Given the description of an element on the screen output the (x, y) to click on. 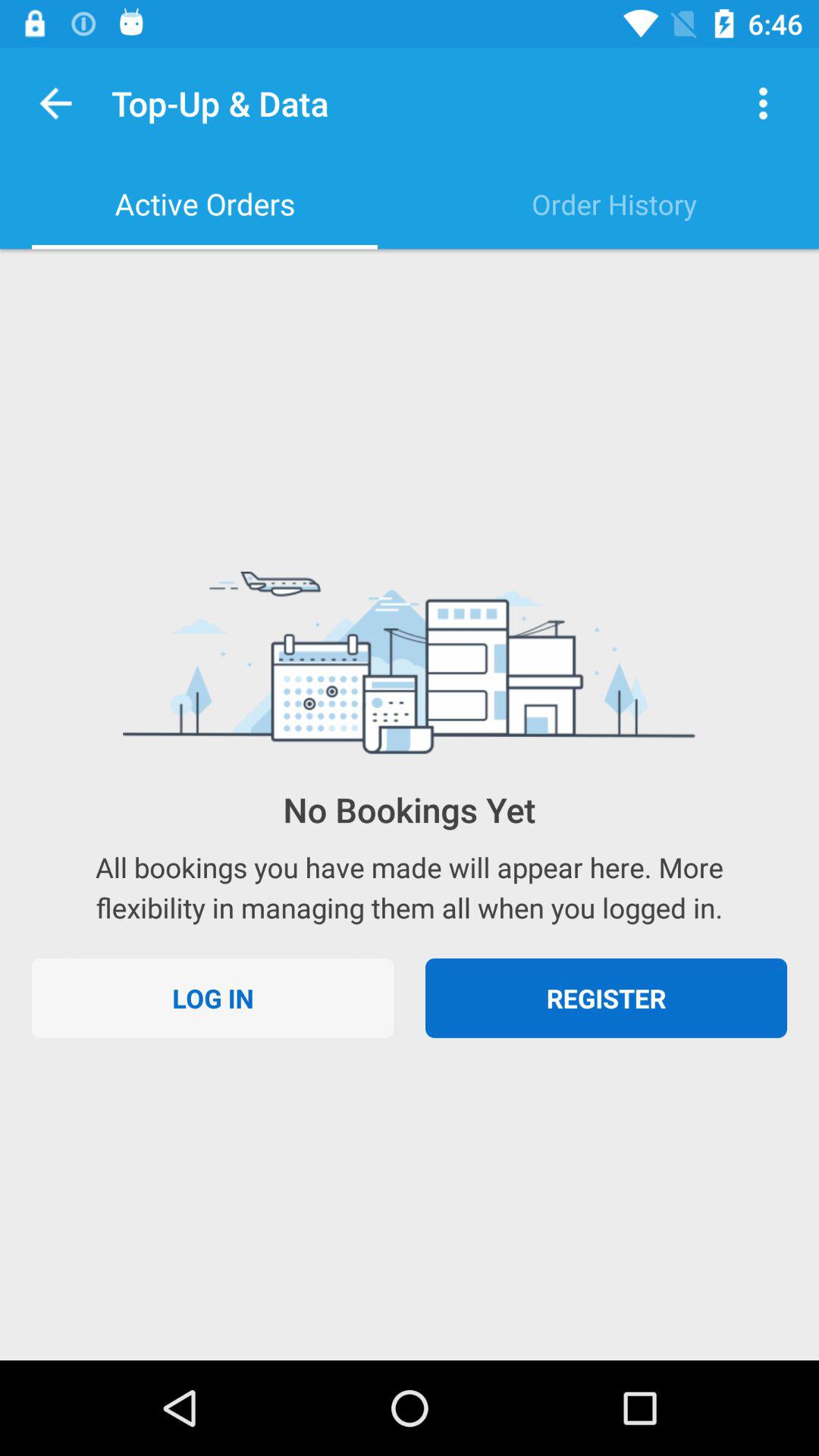
launch the item next to register (212, 997)
